Given the description of an element on the screen output the (x, y) to click on. 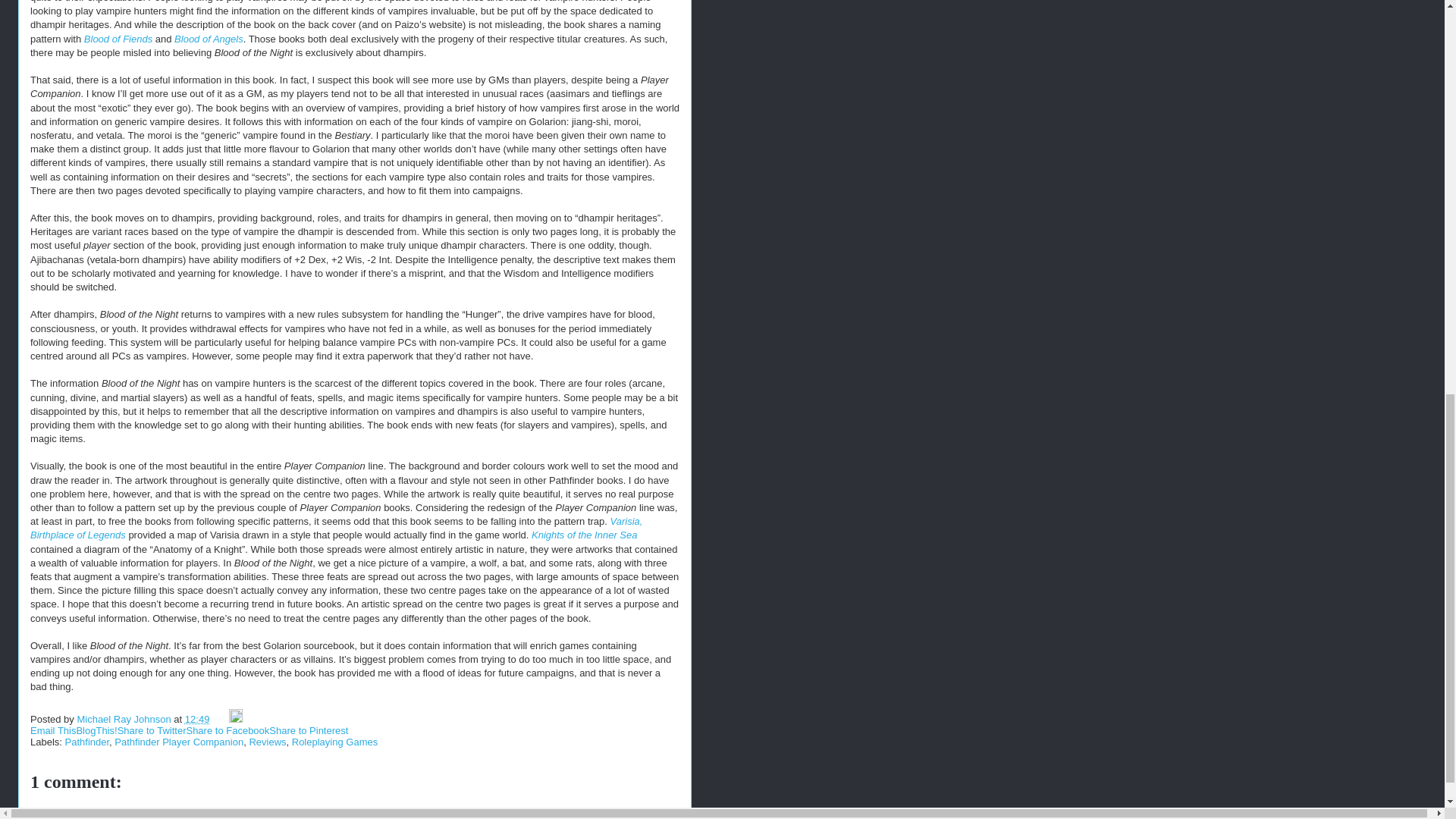
permanent link (196, 718)
author profile (125, 718)
Michael Ray Johnson (125, 718)
Share to Twitter (151, 730)
BlogThis! (95, 730)
Varisia, Birthplace of Legends (336, 527)
12:49 (196, 718)
Email This (52, 730)
Pathfinder Player Companion (179, 741)
Edit Post (235, 718)
